Given the description of an element on the screen output the (x, y) to click on. 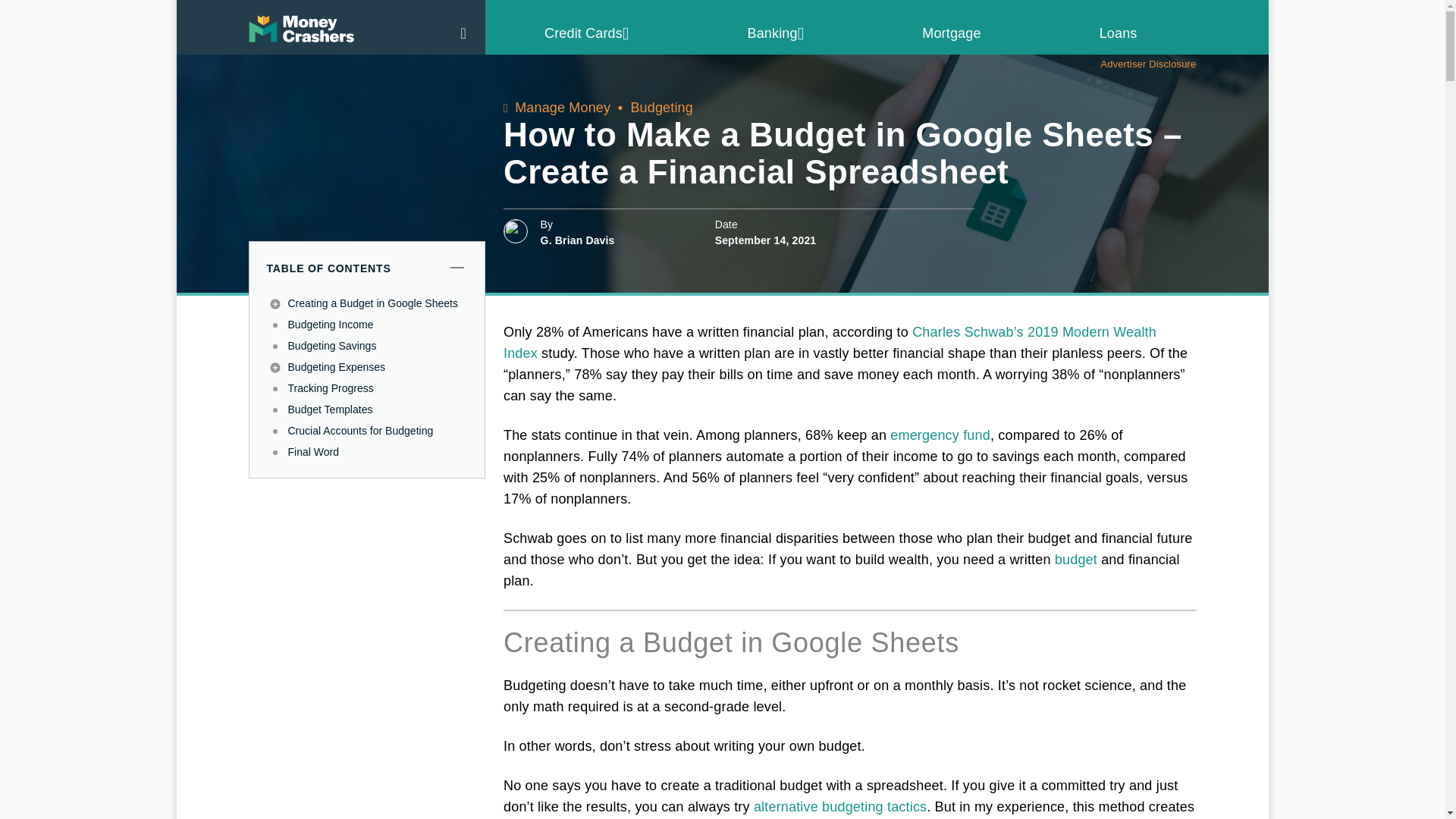
Mortgage (950, 33)
Credit Cards (586, 33)
Loans (1118, 33)
Banking (776, 33)
